Given the description of an element on the screen output the (x, y) to click on. 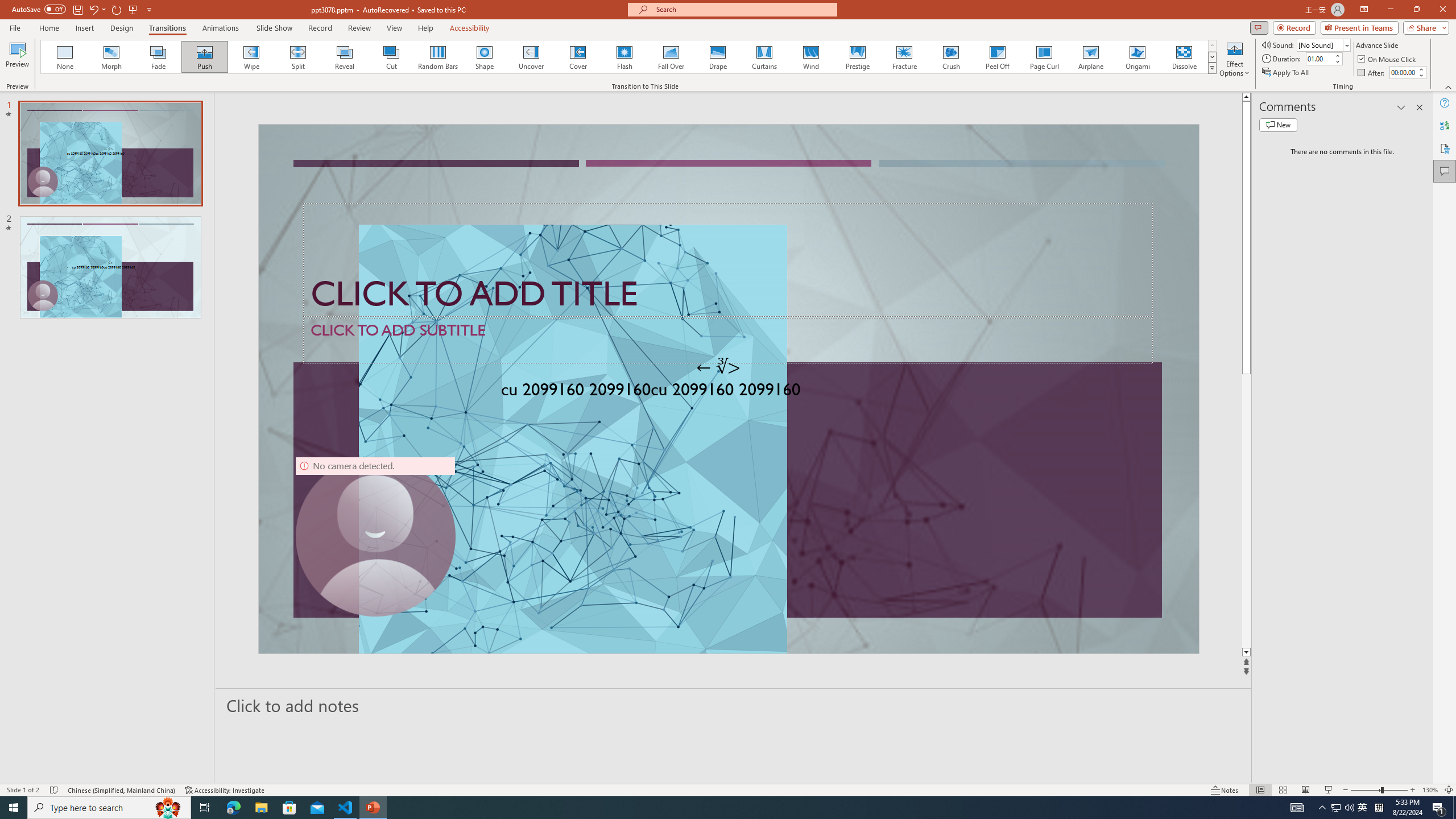
Slide (110, 267)
Close pane (1419, 107)
AutomationID: AnimationTransitionGallery (628, 56)
On Mouse Click (1387, 58)
Class: MsoCommandBar (728, 789)
Apply To All (1286, 72)
Page Curl (1043, 56)
Wipe (251, 56)
Row Down (1212, 56)
Effect Options (1234, 58)
Prestige (857, 56)
Duration (1319, 58)
Home (48, 28)
Translator (1444, 125)
Crush (950, 56)
